Given the description of an element on the screen output the (x, y) to click on. 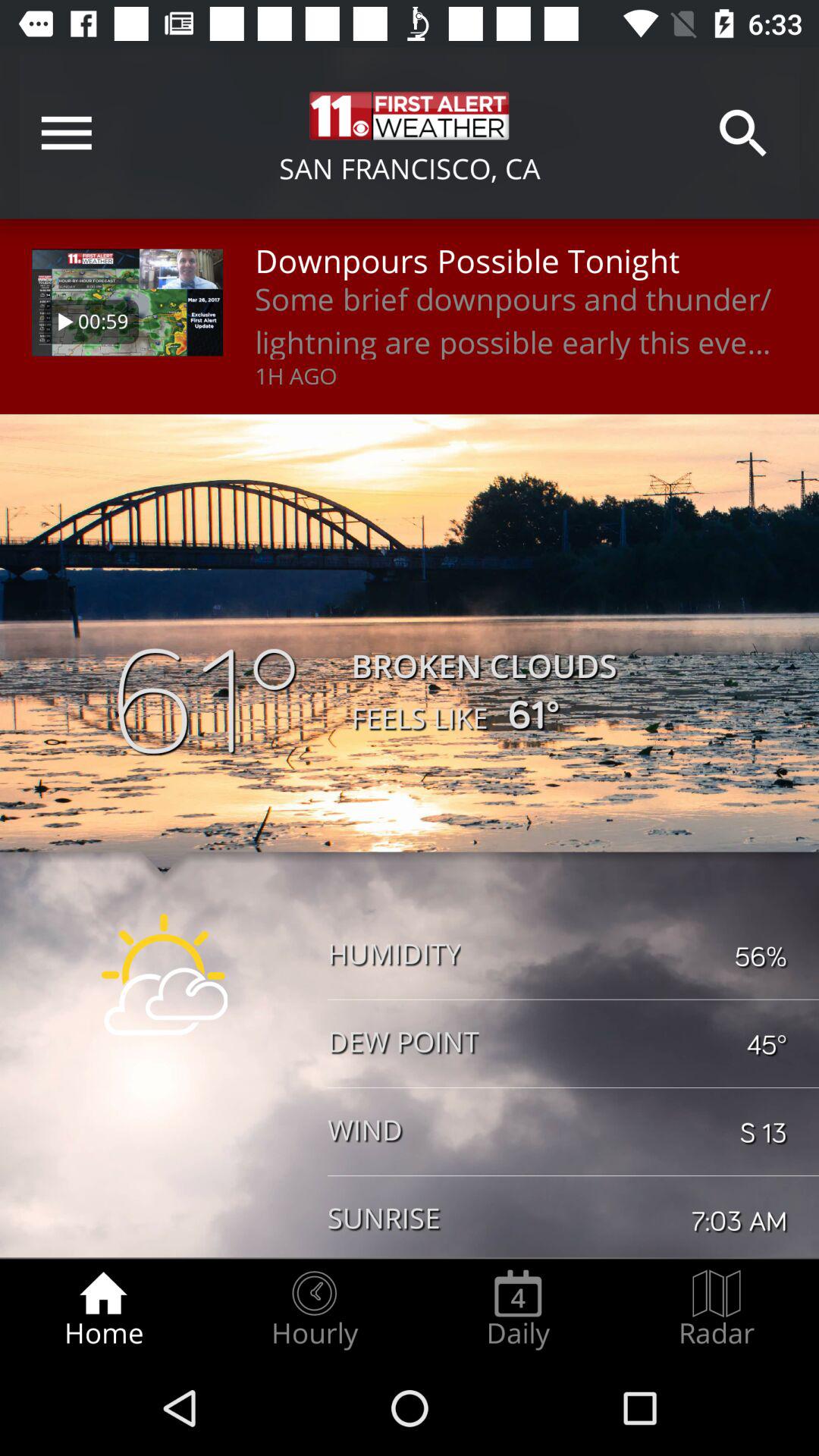
choose radio button to the right of the home item (314, 1309)
